Given the description of an element on the screen output the (x, y) to click on. 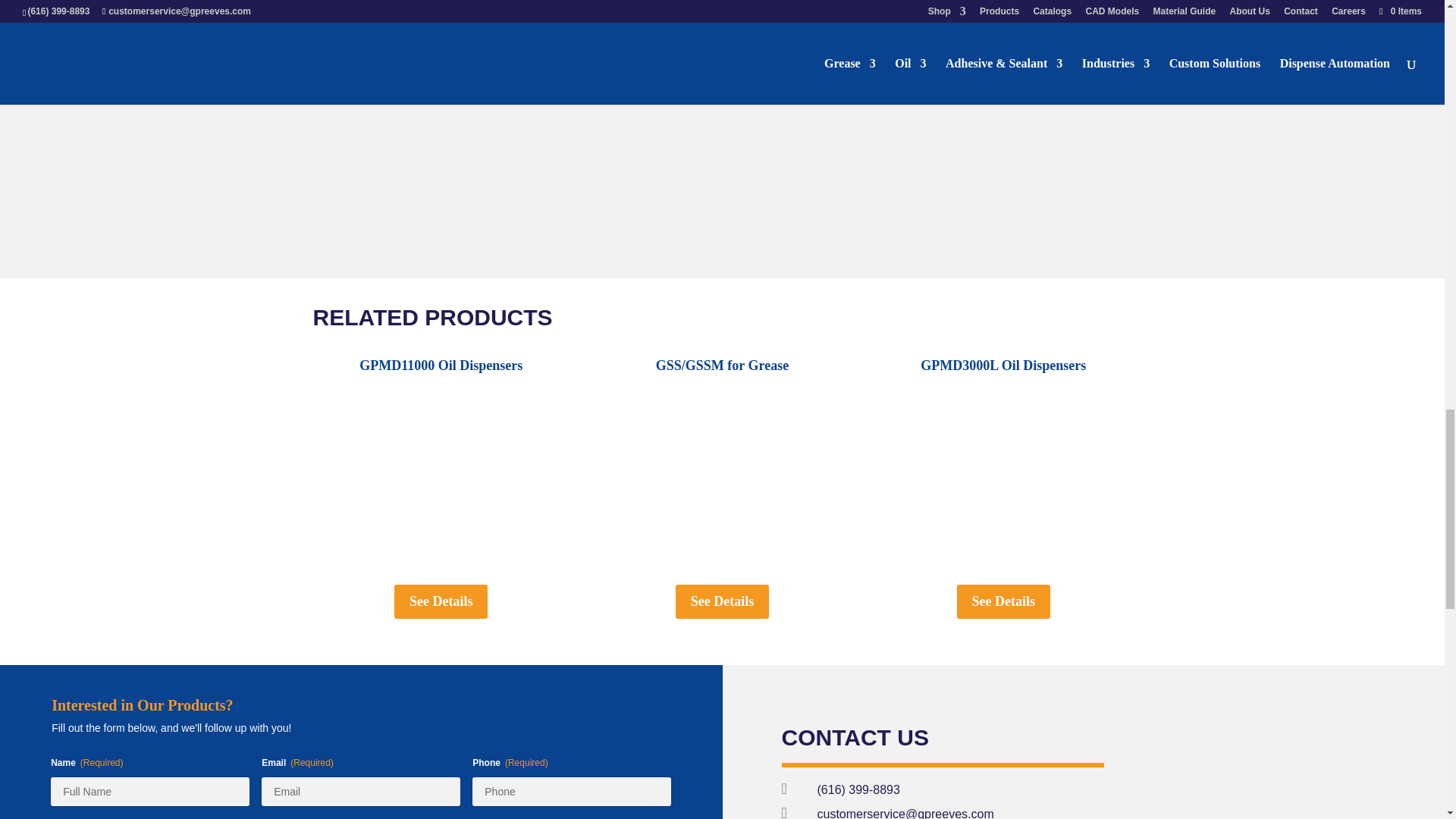
gpmd3000L (1003, 479)
GPMD10000 (441, 479)
GSS (722, 479)
